Given the description of an element on the screen output the (x, y) to click on. 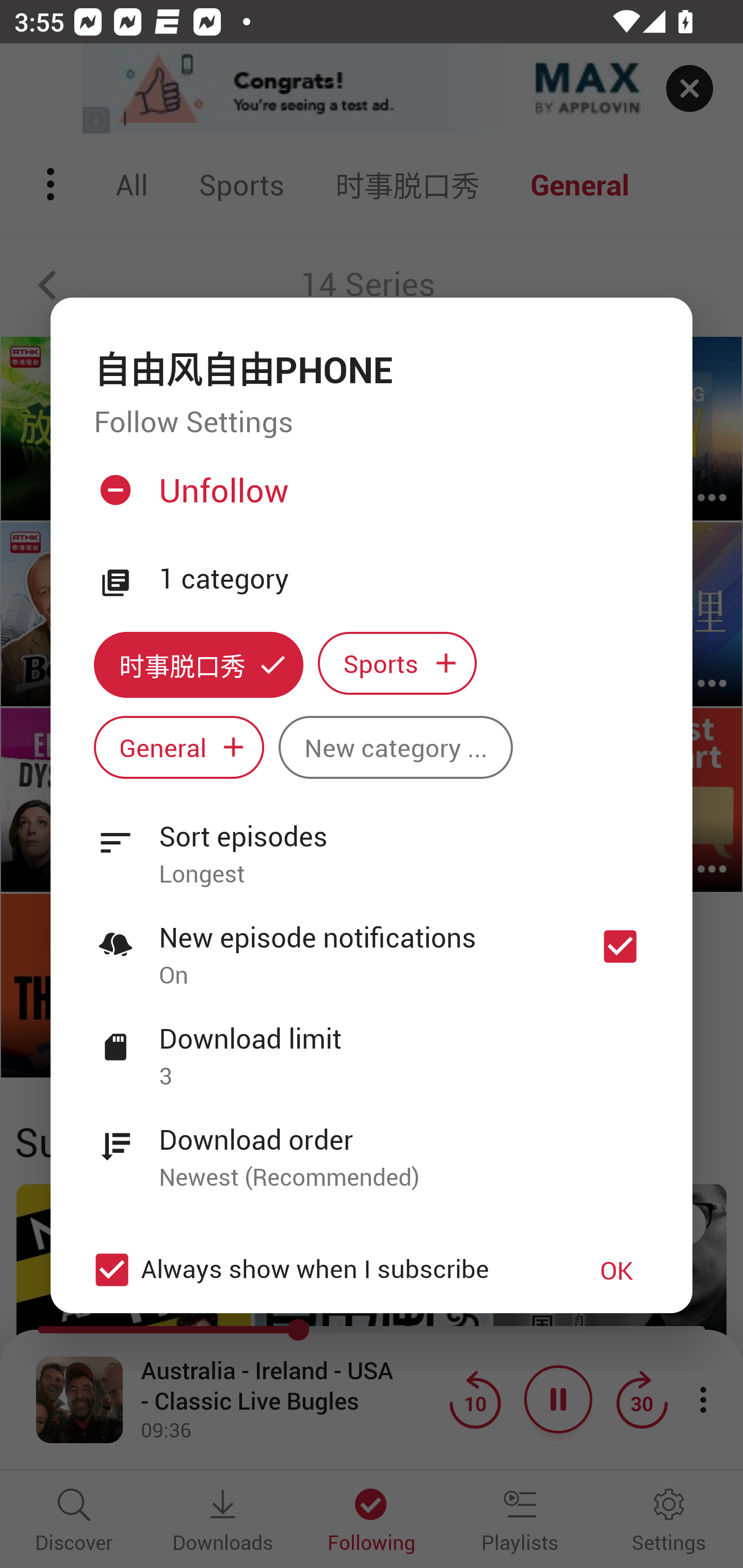
Unfollow (369, 498)
1 category (404, 578)
时事脱口秀 (198, 664)
Sports (397, 662)
General (178, 747)
New category ... (395, 747)
Sort episodes Longest (371, 843)
New episode notifications (620, 946)
Download limit 3 (371, 1045)
Download order Newest (Recommended) (371, 1146)
OK (616, 1269)
Always show when I subscribe (320, 1269)
